Given the description of an element on the screen output the (x, y) to click on. 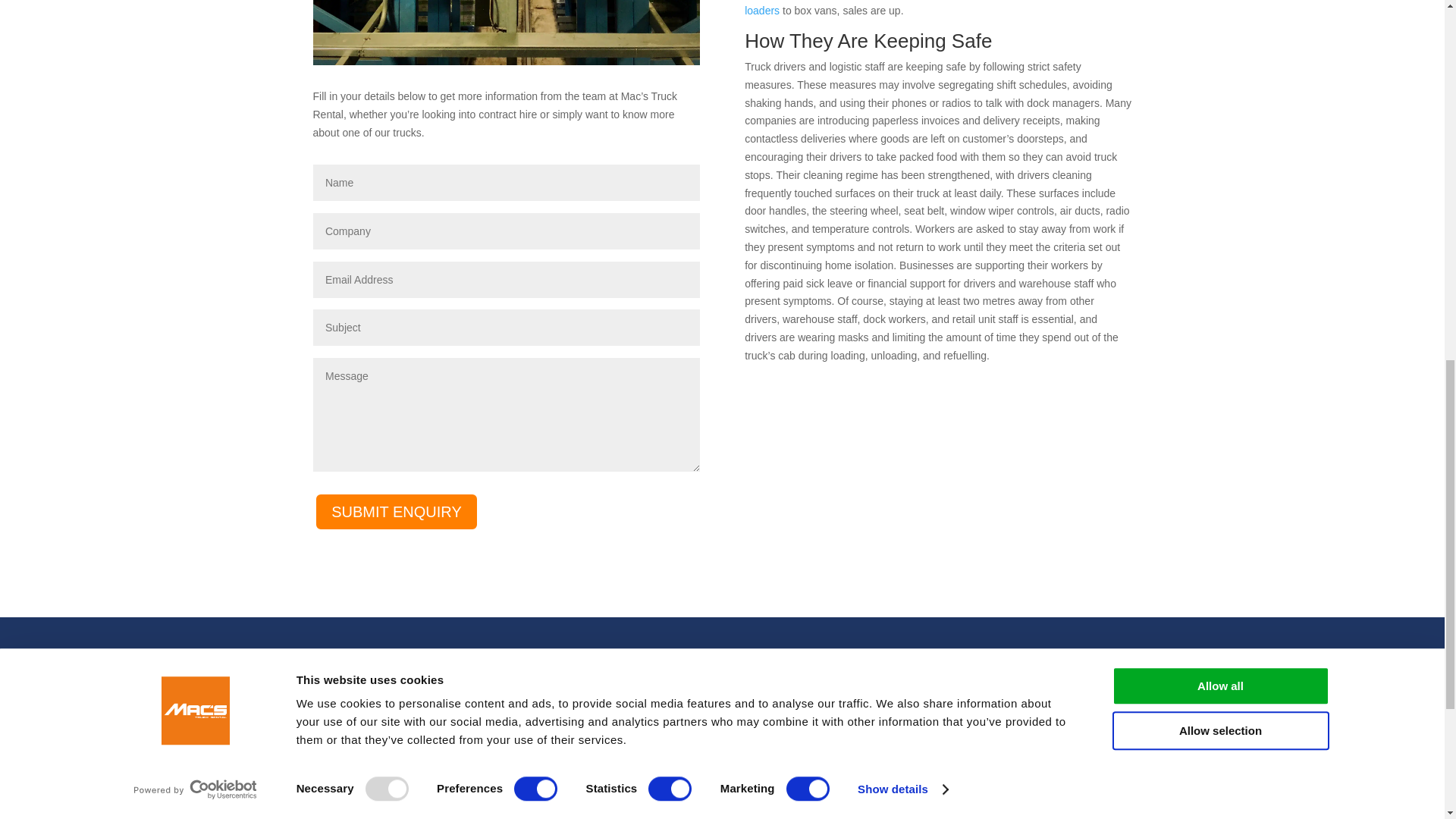
Follow on X (1118, 773)
bvrla-white (1094, 735)
Follow on Facebook (1088, 773)
Macs Rental Logo (371, 735)
